Given the description of an element on the screen output the (x, y) to click on. 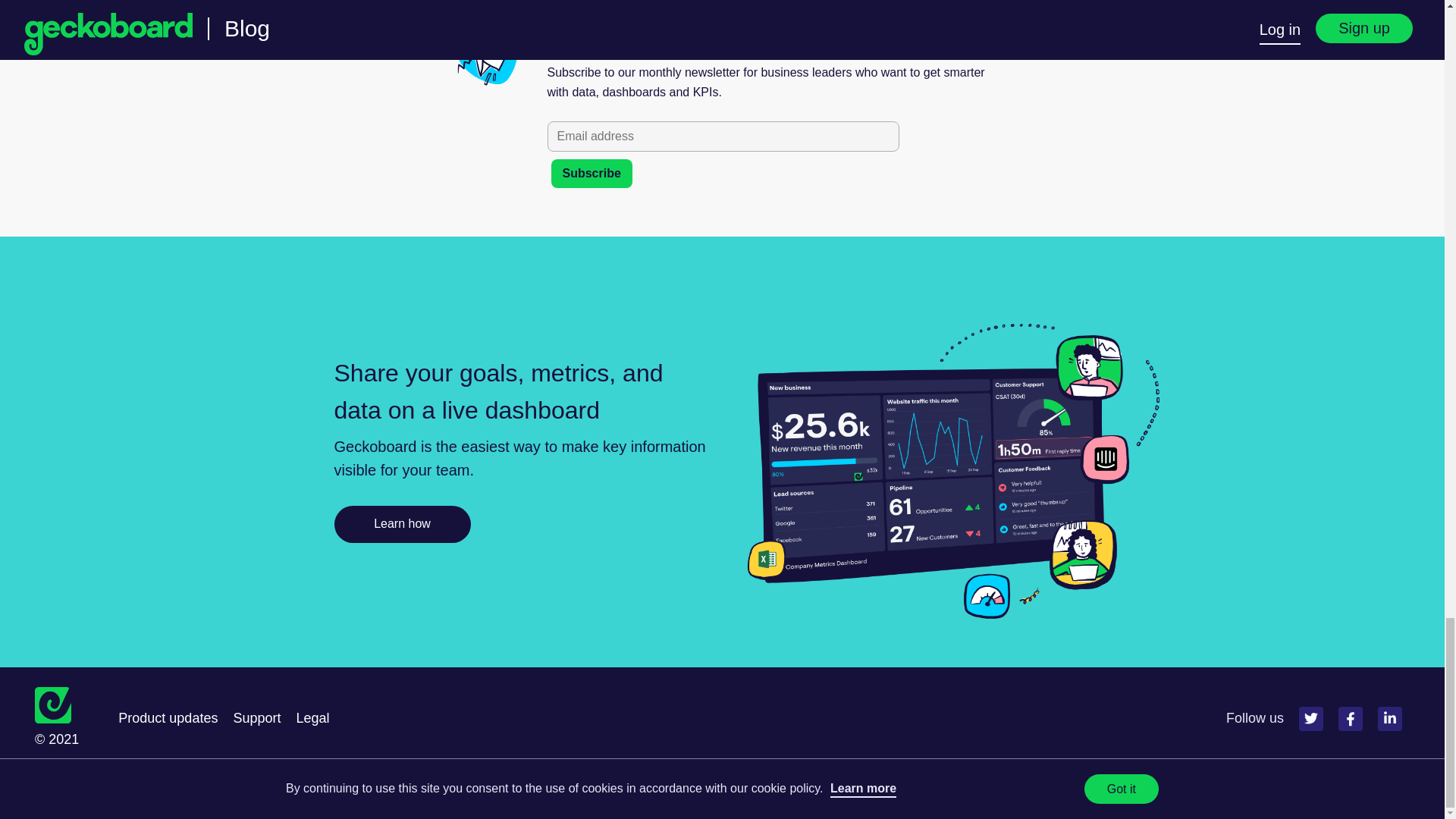
Legal (312, 717)
Twitter (1310, 718)
Learn how (401, 524)
Subscribe (590, 173)
Product updates (166, 717)
LinkedIn (1389, 718)
Support (256, 717)
Facebook (1350, 718)
